Given the description of an element on the screen output the (x, y) to click on. 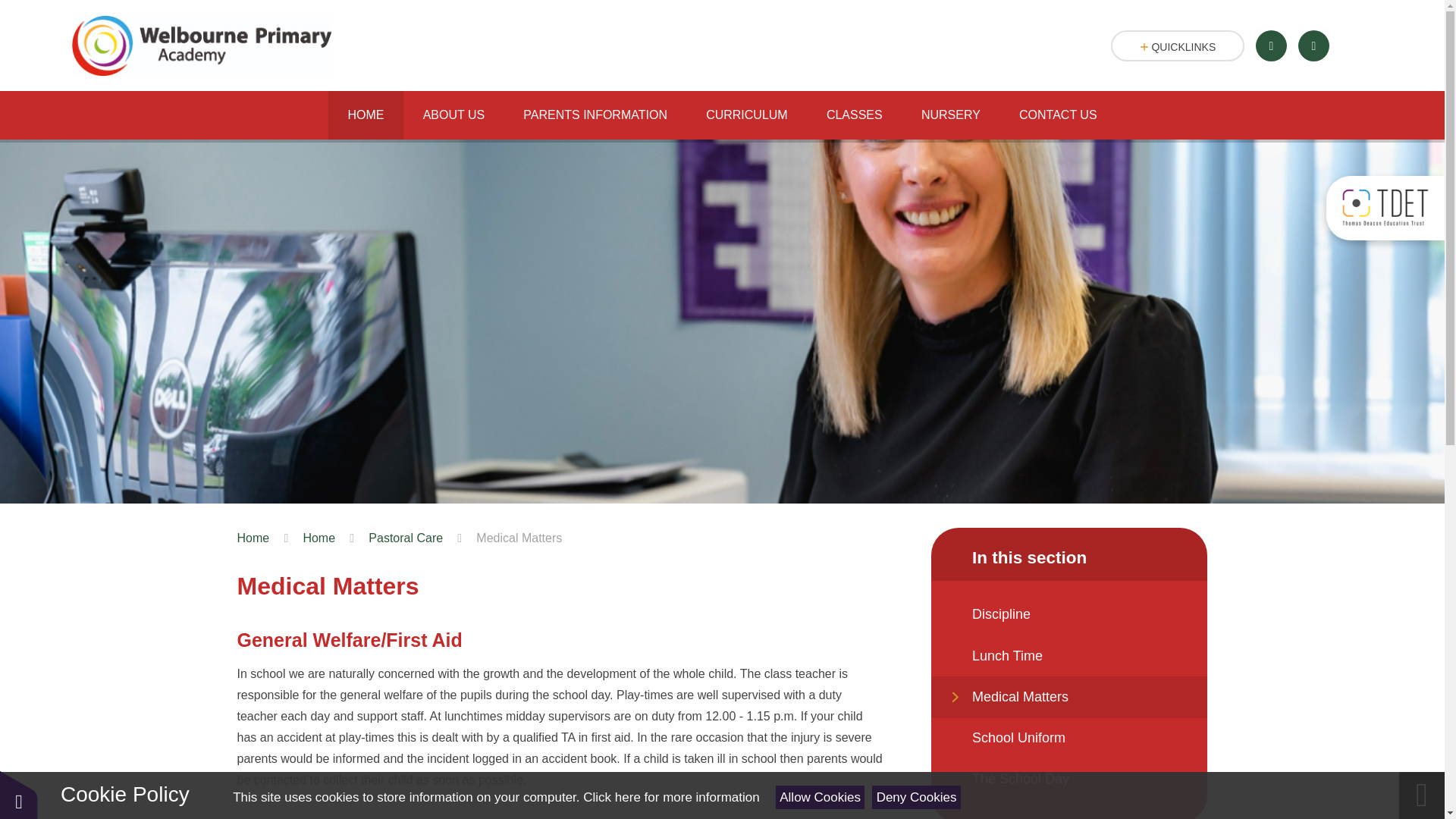
PARENTS INFORMATION (595, 114)
Twitter (1271, 45)
Deny Cookies (915, 797)
HOME (366, 114)
Facebook (1313, 45)
ABOUT US (453, 114)
Allow Cookies (820, 797)
See cookie policy (670, 797)
